Given the description of an element on the screen output the (x, y) to click on. 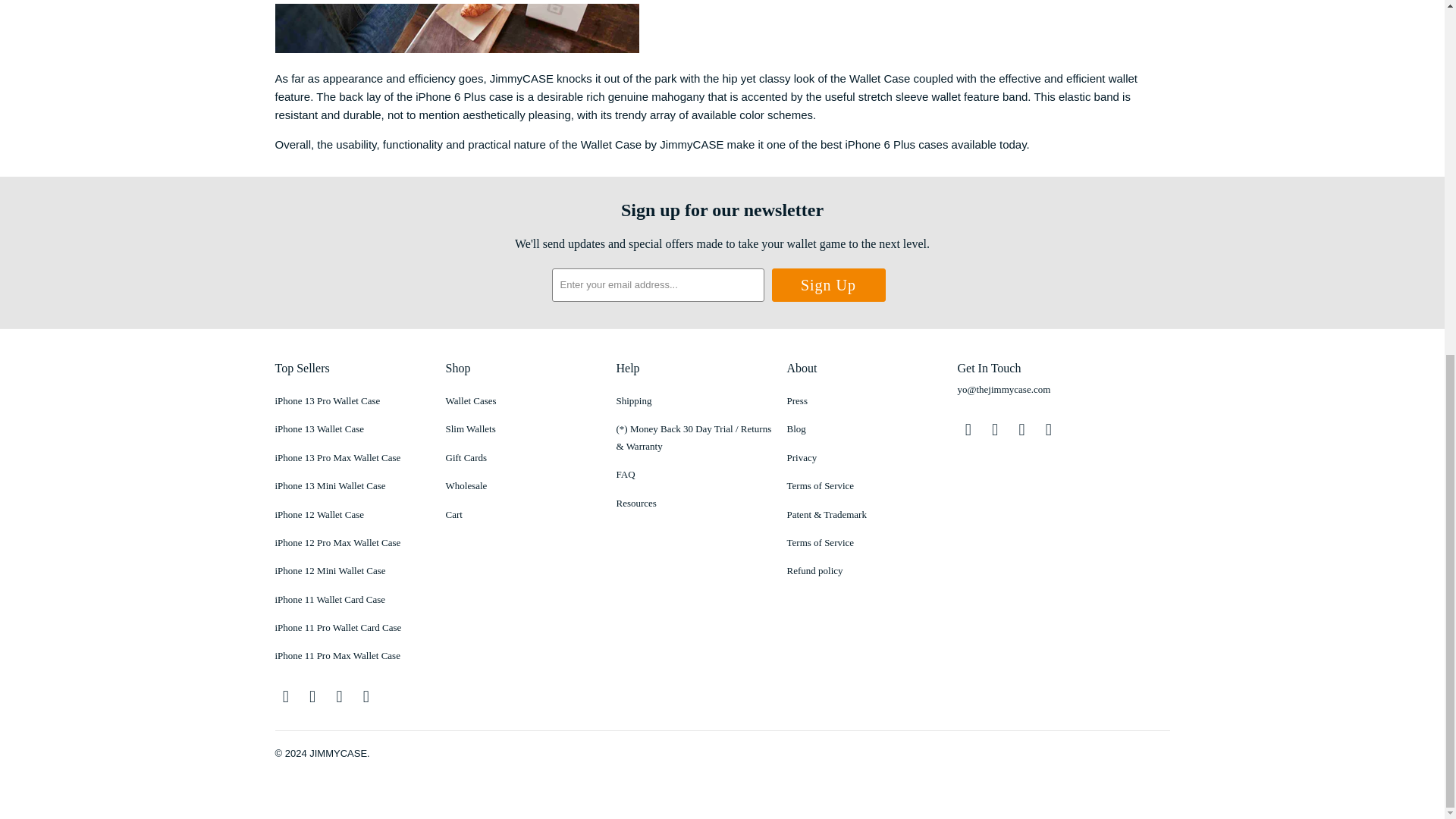
Sign Up (828, 285)
JIMMYCASE on Instagram (1021, 429)
JIMMYCASE on Twitter (967, 429)
Email JIMMYCASE (366, 696)
Email JIMMYCASE (1047, 429)
JIMMYCASE on Instagram (339, 696)
JIMMYCASE on Twitter (286, 696)
JIMMYCASE on Facebook (312, 696)
JIMMYCASE on Facebook (995, 429)
